Given the description of an element on the screen output the (x, y) to click on. 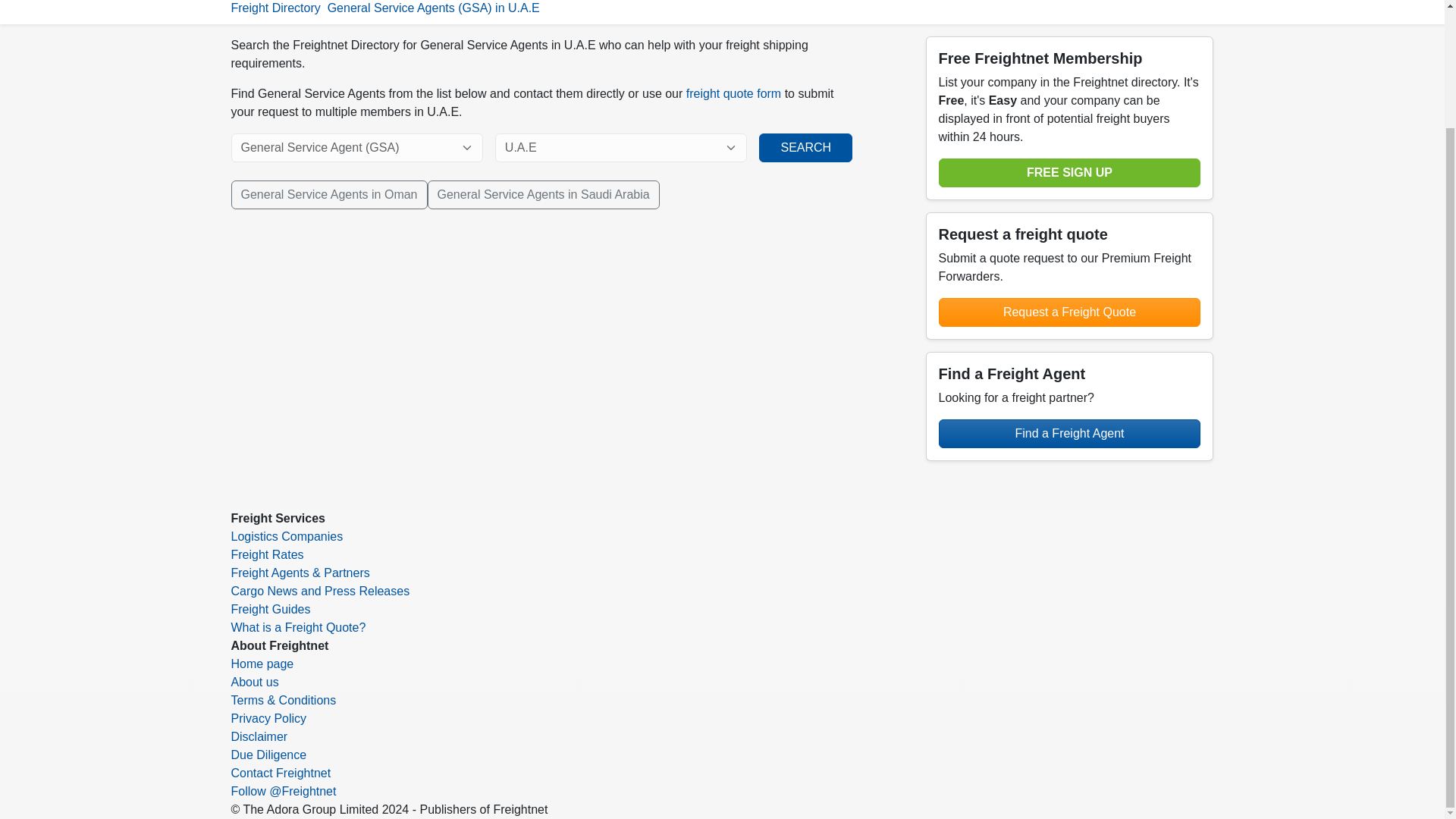
Home page (262, 663)
Contact Freightnet (280, 772)
FREE SIGN UP (1070, 172)
Cargo News and Press Releases (319, 590)
Freight Directory (275, 7)
Logistics Companies (286, 535)
Disclaimer (258, 736)
About us (254, 681)
Due Diligence (267, 754)
General Service Agents in Saudi Arabia (543, 194)
What is a Freight Quote? (297, 626)
Privacy Policy (267, 717)
Find a Freight Agent (1070, 433)
freight quote form (732, 92)
Request a Freight Quote (1070, 312)
